Given the description of an element on the screen output the (x, y) to click on. 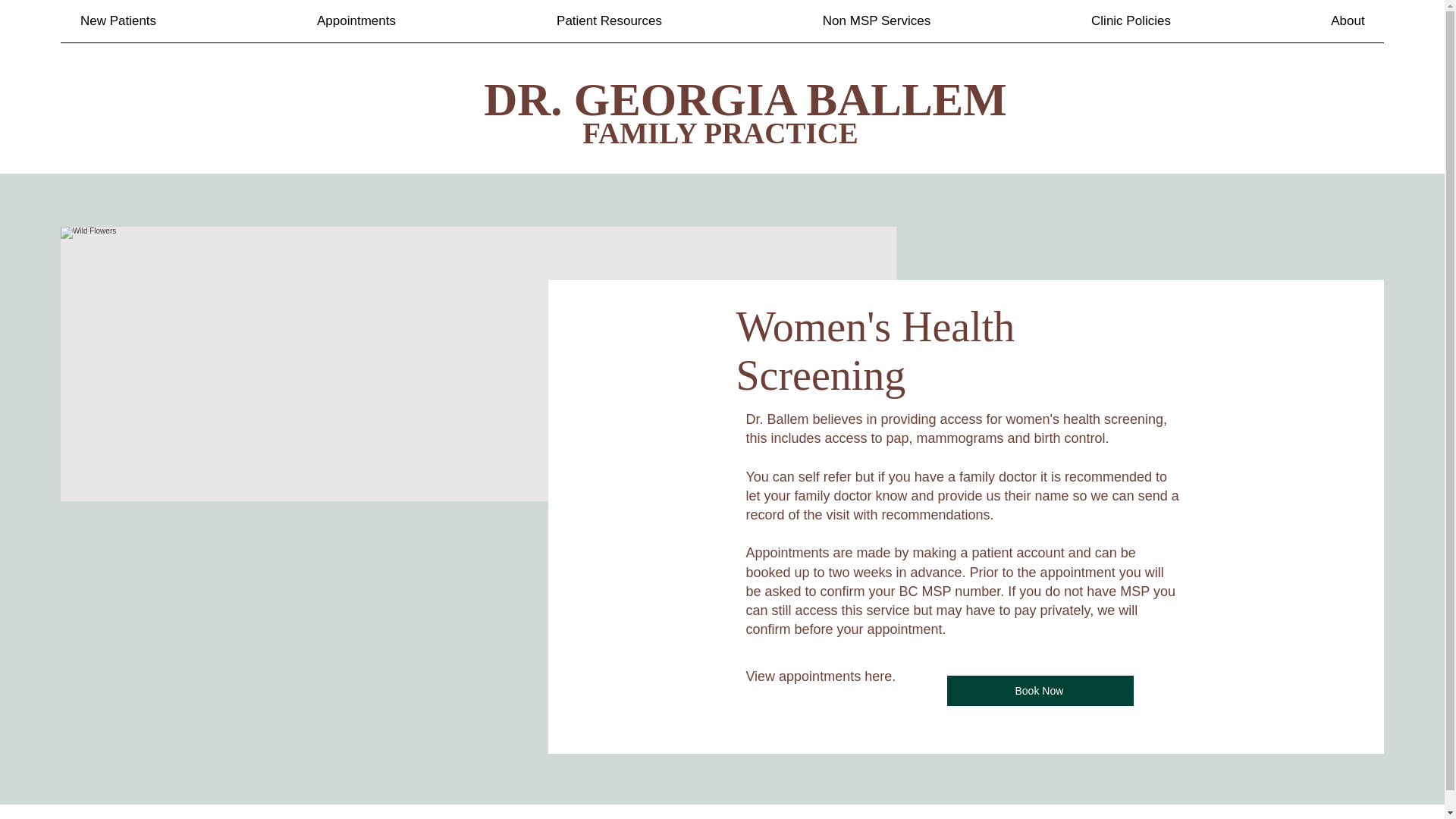
Clinic Policies (1130, 21)
DR. GEORGIA BALLEM (745, 99)
New Patients (117, 21)
Book Now (1040, 690)
